Given the description of an element on the screen output the (x, y) to click on. 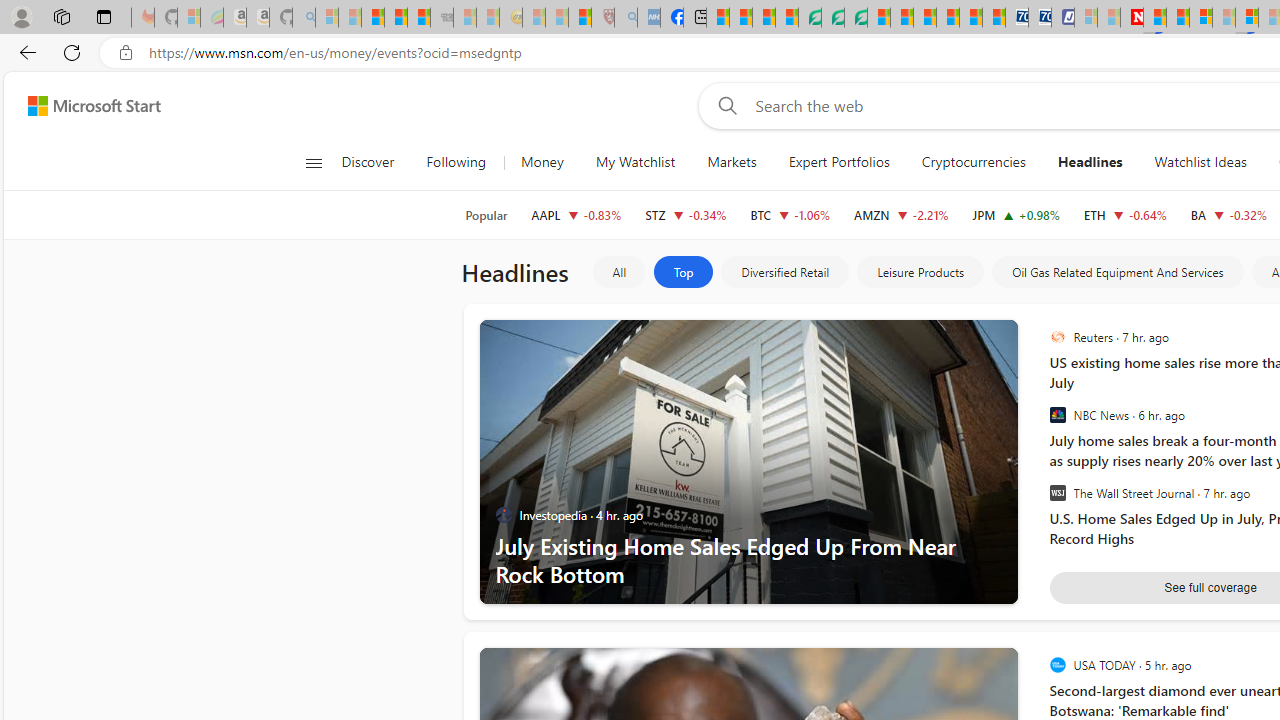
Diversified Retail (784, 272)
The Wall Street Journal (1057, 493)
Latest Politics News & Archive | Newsweek.com (1132, 17)
Reuters (1057, 337)
Combat Siege (442, 17)
Open navigation menu (313, 162)
New Report Confirms 2023 Was Record Hot | Watch (419, 17)
Terms of Use Agreement (832, 17)
Skip to content (86, 105)
The Weather Channel - MSN (372, 17)
AAPL APPLE INC. decrease 224.53 -1.87 -0.83% (575, 214)
Cheap Car Rentals - Save70.com (1016, 17)
